Given the description of an element on the screen output the (x, y) to click on. 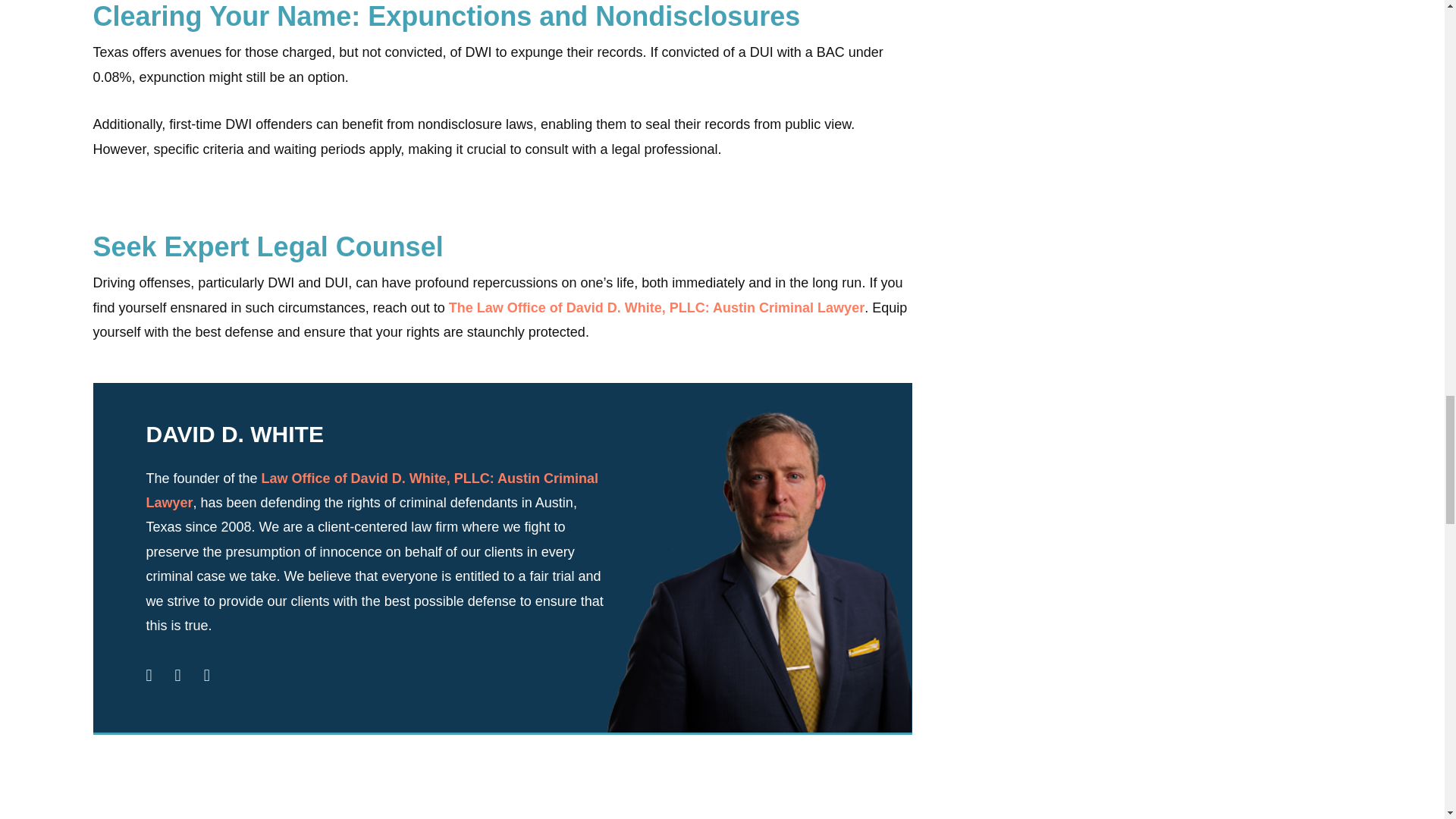
DAVID D. WHITE (234, 433)
Law Office of David D. White, PLLC: Austin Criminal Lawyer (370, 490)
